Given the description of an element on the screen output the (x, y) to click on. 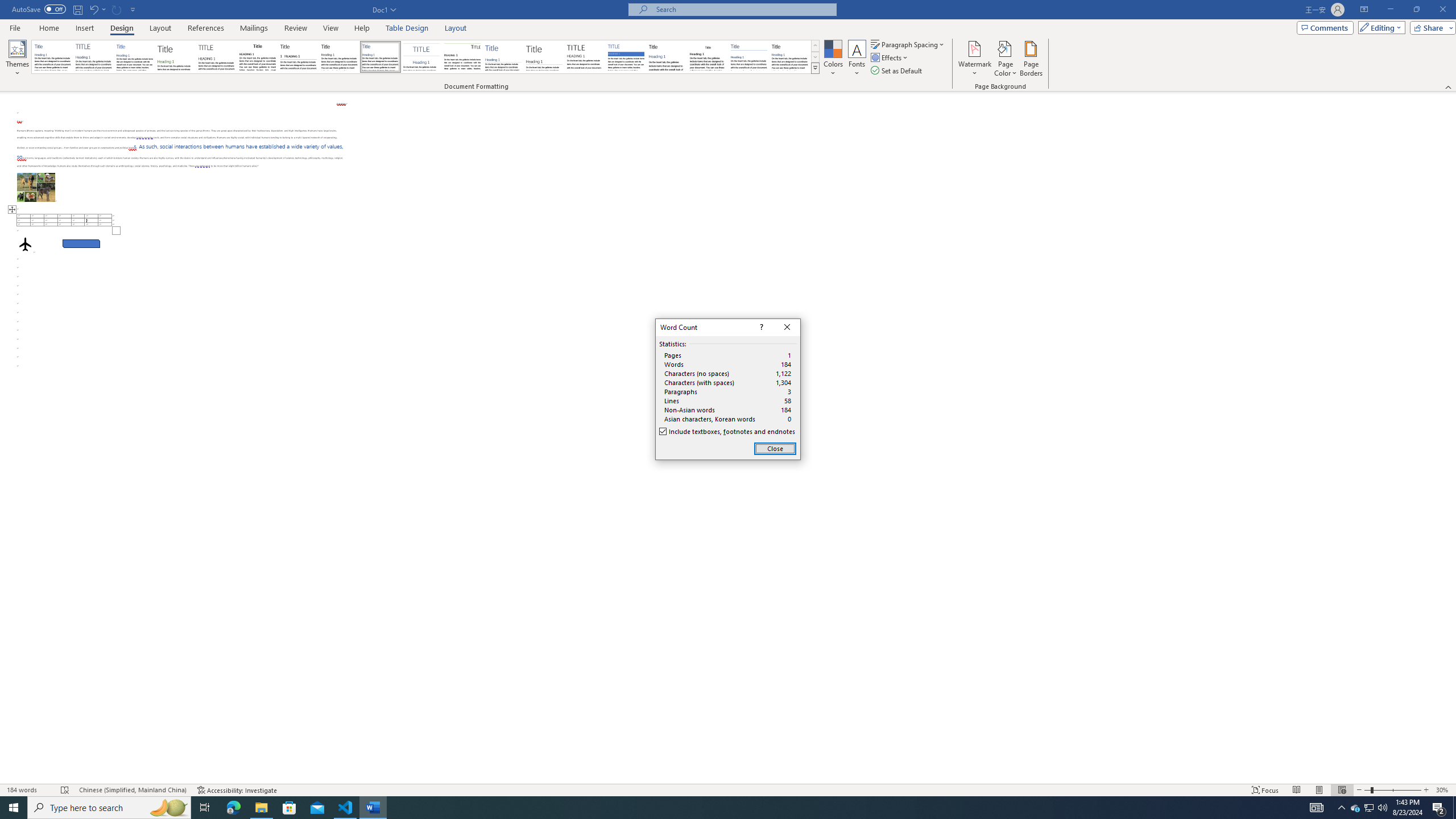
Black & White (Capitalized) (216, 56)
AutomationID: QuickStylesSets (425, 56)
Colors (832, 58)
Word - 1 running window (373, 807)
Basic (Simple) (135, 56)
Themes (17, 58)
